Given the description of an element on the screen output the (x, y) to click on. 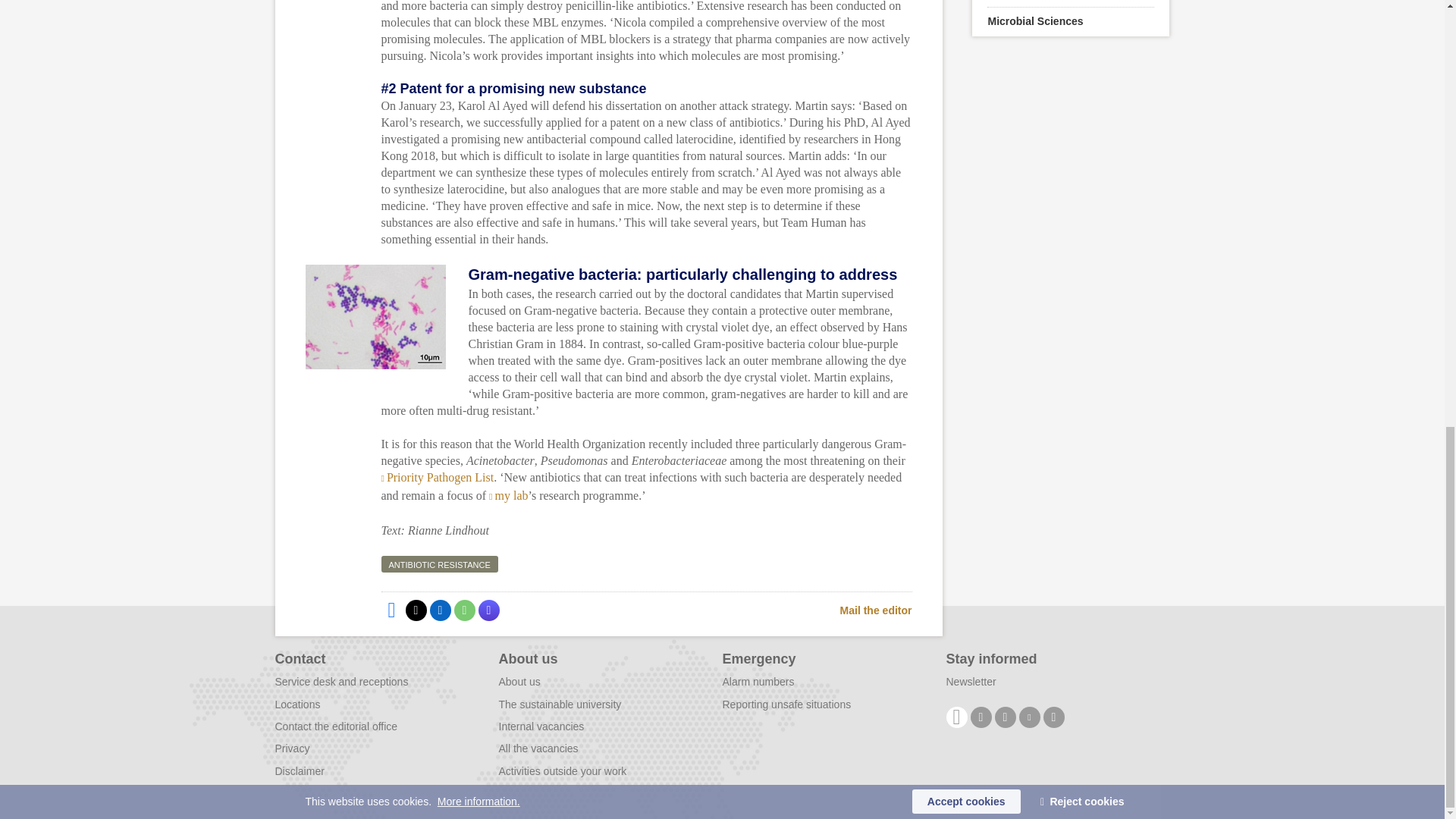
Share on Facebook (390, 609)
Share by WhatsApp (463, 609)
Share on X (415, 609)
Share on LinkedIn (439, 609)
Share by Mastodon (488, 609)
